Given the description of an element on the screen output the (x, y) to click on. 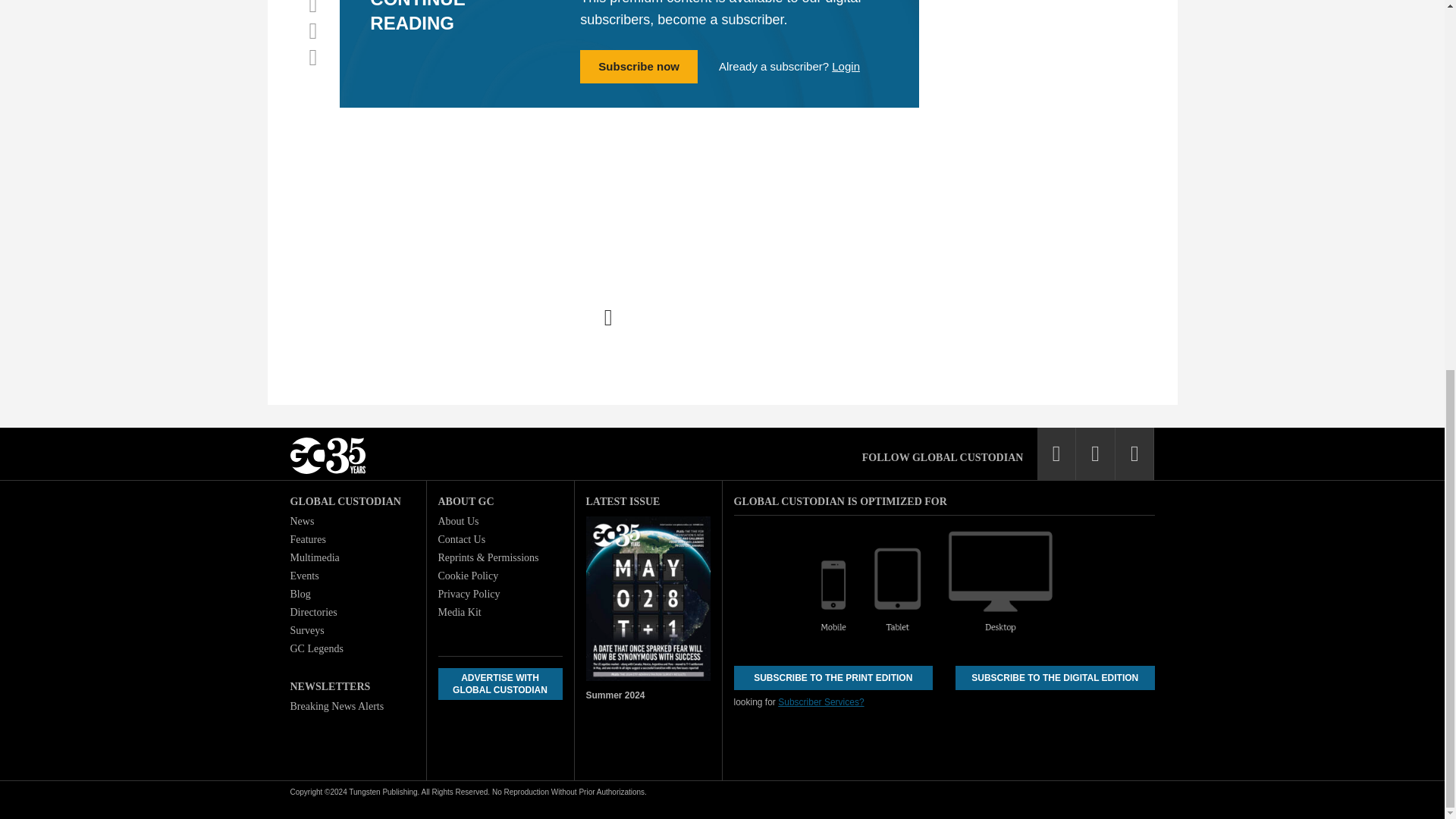
Email this article (312, 57)
